Given the description of an element on the screen output the (x, y) to click on. 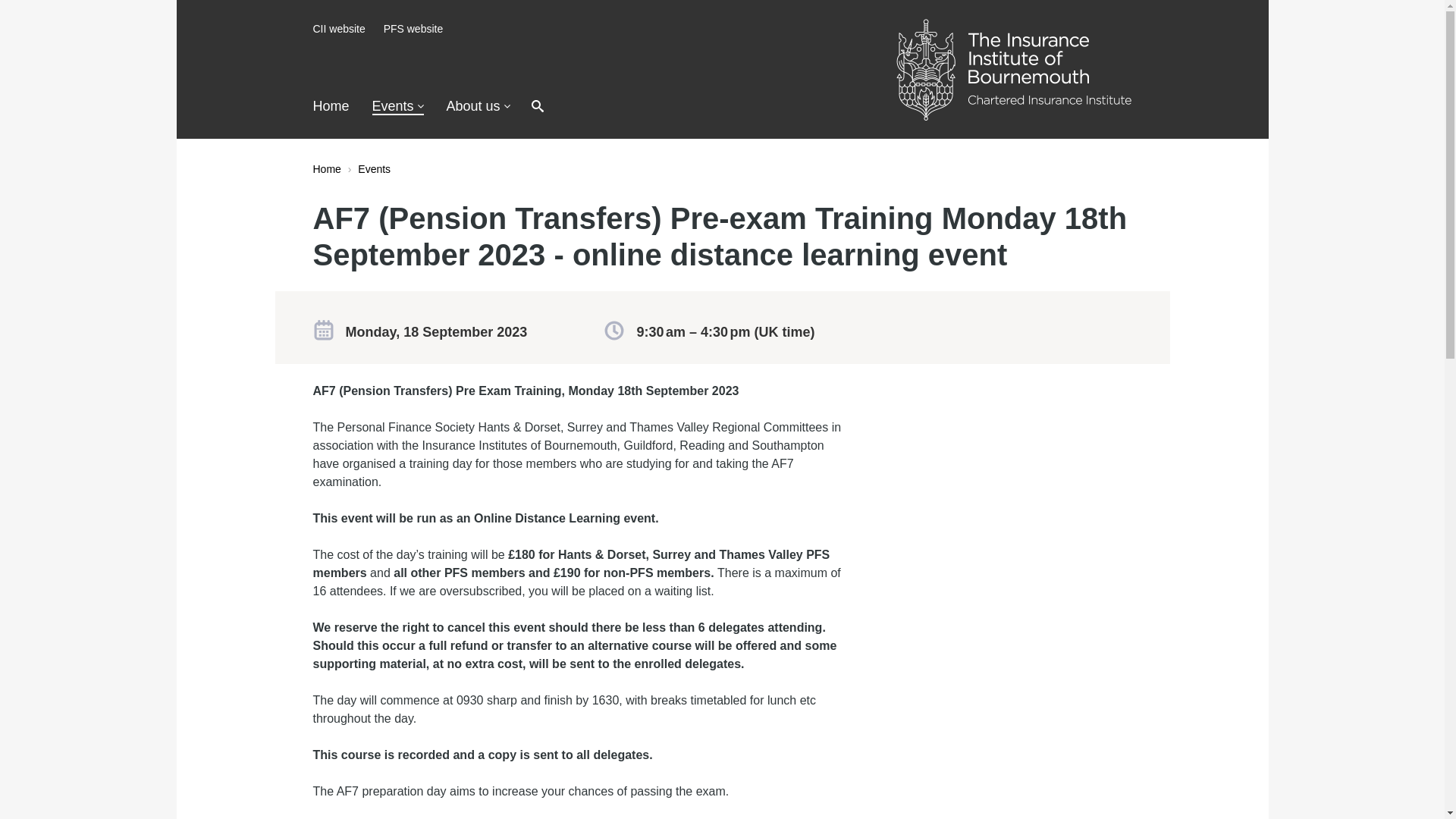
Events (374, 168)
Go (735, 106)
Events (397, 106)
Home (331, 105)
Home (326, 168)
PFS website (414, 28)
About us (478, 105)
CII website (339, 28)
